Given the description of an element on the screen output the (x, y) to click on. 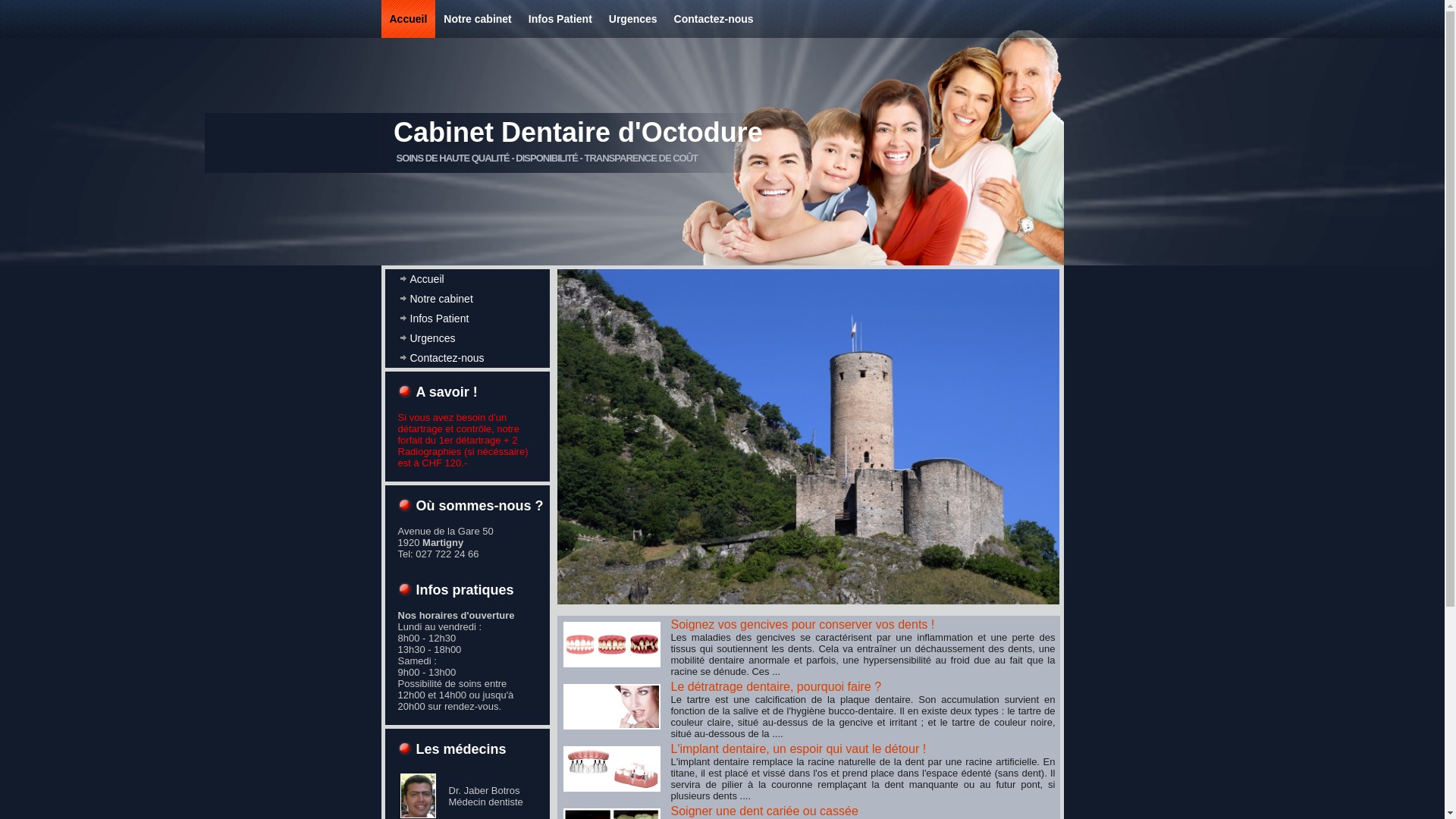
Infos Patient Element type: text (560, 18)
Contactez-nous Element type: text (713, 18)
Contactez-nous Element type: text (467, 357)
Notre cabinet Element type: text (477, 18)
Cabinet Dentaire d'Octodure Element type: text (577, 131)
Notre cabinet Element type: text (467, 298)
Urgences Element type: text (632, 18)
Accueil Element type: text (407, 18)
Accueil Element type: text (467, 278)
Urgences Element type: text (467, 338)
Soignez vos gencives pour conserver vos dents ! Element type: text (802, 624)
Infos Patient Element type: text (467, 318)
